Given the description of an element on the screen output the (x, y) to click on. 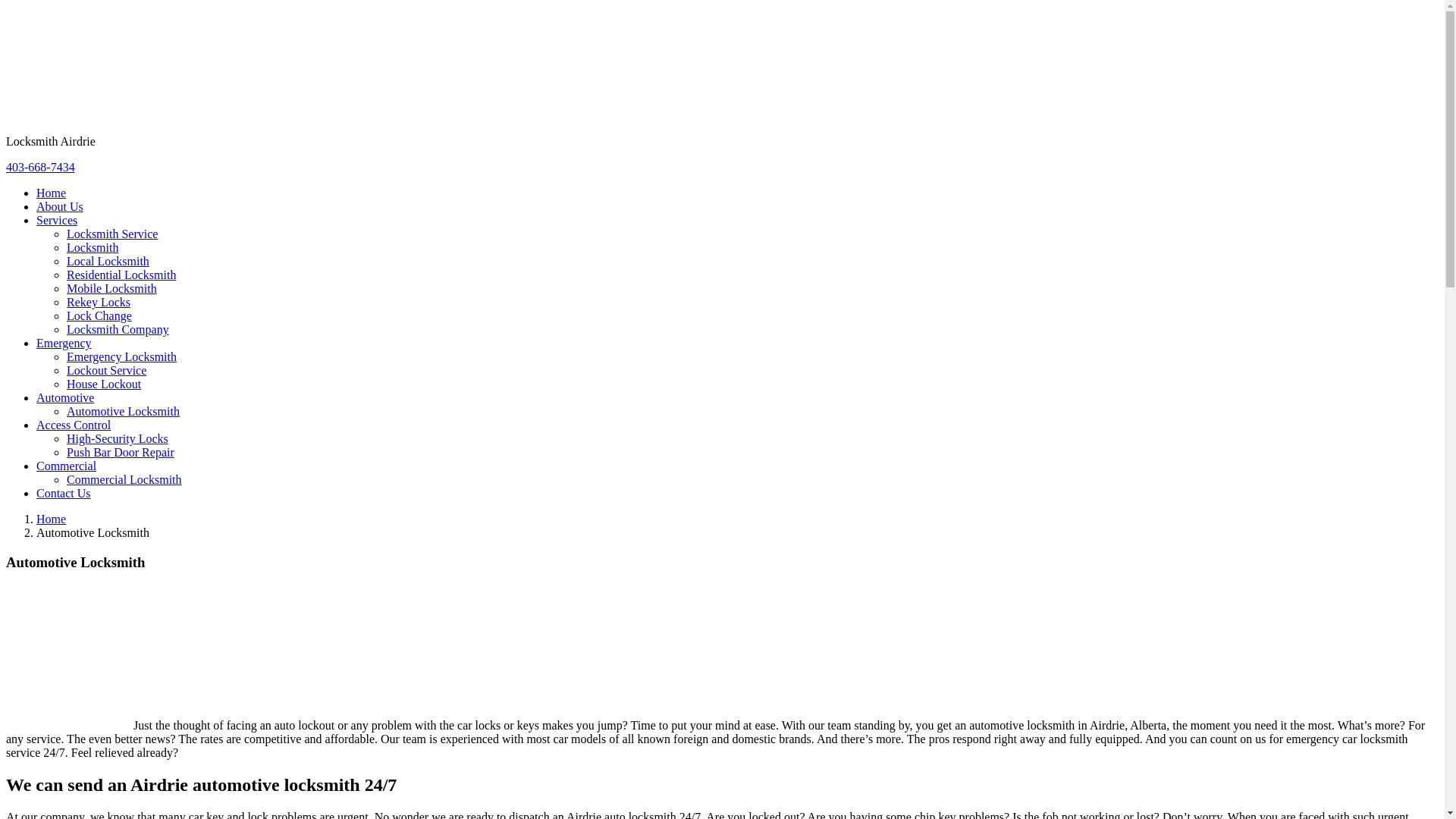
Residential Locksmith Element type: text (120, 274)
Access Control Element type: text (73, 424)
Emergency Element type: text (63, 342)
About Us Element type: text (59, 206)
Lock Change Element type: text (98, 315)
Automotive Locksmith Element type: text (122, 410)
Locksmith Company Element type: text (117, 329)
Local Locksmith Element type: text (107, 260)
Locksmith Service Element type: text (111, 233)
Commercial Element type: text (66, 465)
Rekey Locks Element type: text (98, 301)
403-668-7434 Element type: text (40, 166)
Emergency Locksmith Element type: text (121, 356)
Contact Us Element type: text (63, 492)
Services Element type: text (56, 219)
Home Element type: text (50, 192)
Locksmith Element type: text (92, 247)
House Lockout Element type: text (103, 383)
Home Element type: text (50, 518)
Automotive Element type: text (65, 397)
Lockout Service Element type: text (106, 370)
Commercial Locksmith Element type: text (124, 479)
Mobile Locksmith Element type: text (111, 288)
Push Bar Door Repair Element type: text (120, 451)
High-Security Locks Element type: text (117, 438)
